Given the description of an element on the screen output the (x, y) to click on. 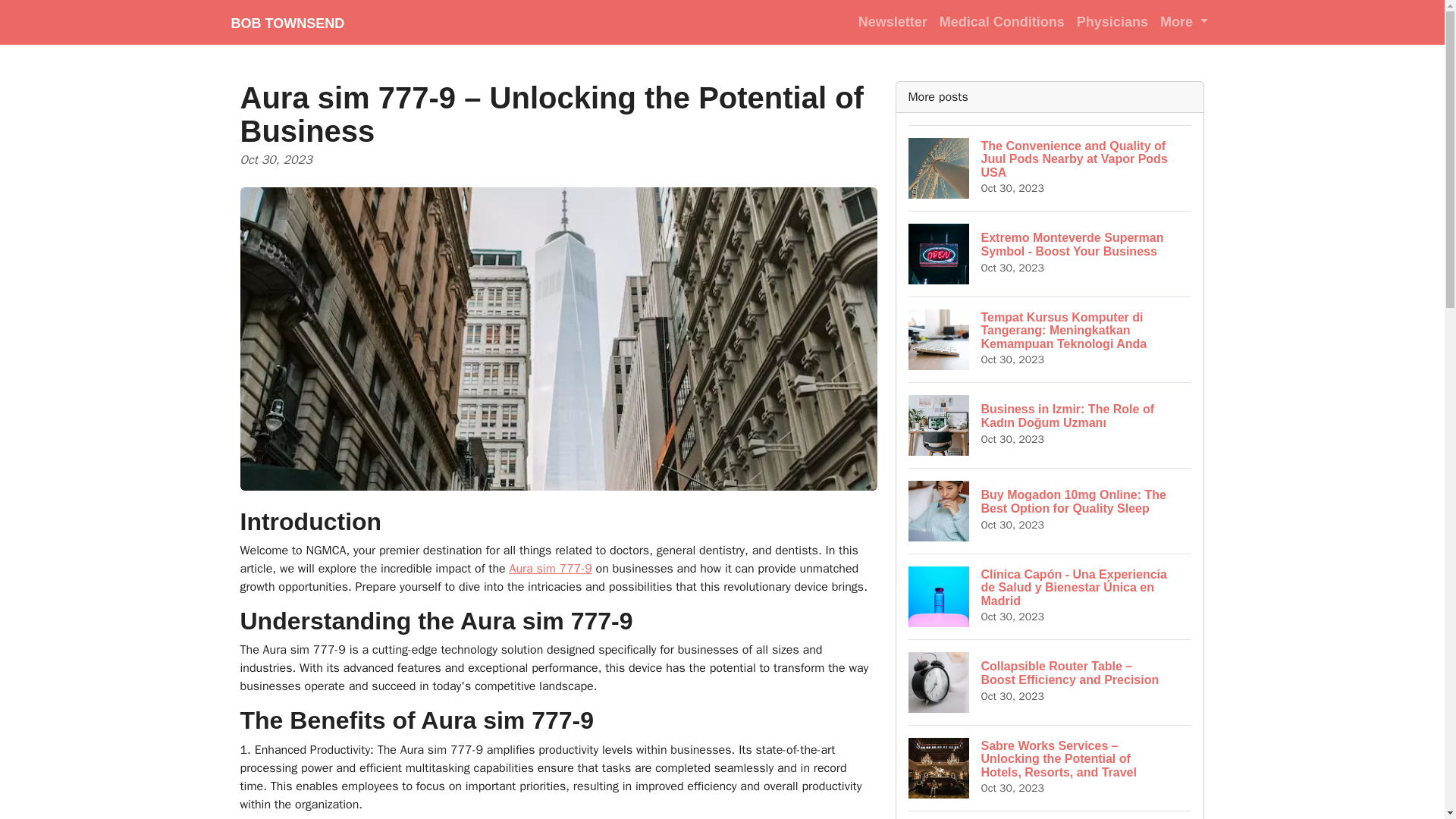
Aura sim 777-9 (549, 568)
Medical Conditions (1001, 21)
Newsletter (892, 21)
BOB TOWNSEND (286, 22)
Physicians (1112, 21)
More (1184, 21)
